Given the description of an element on the screen output the (x, y) to click on. 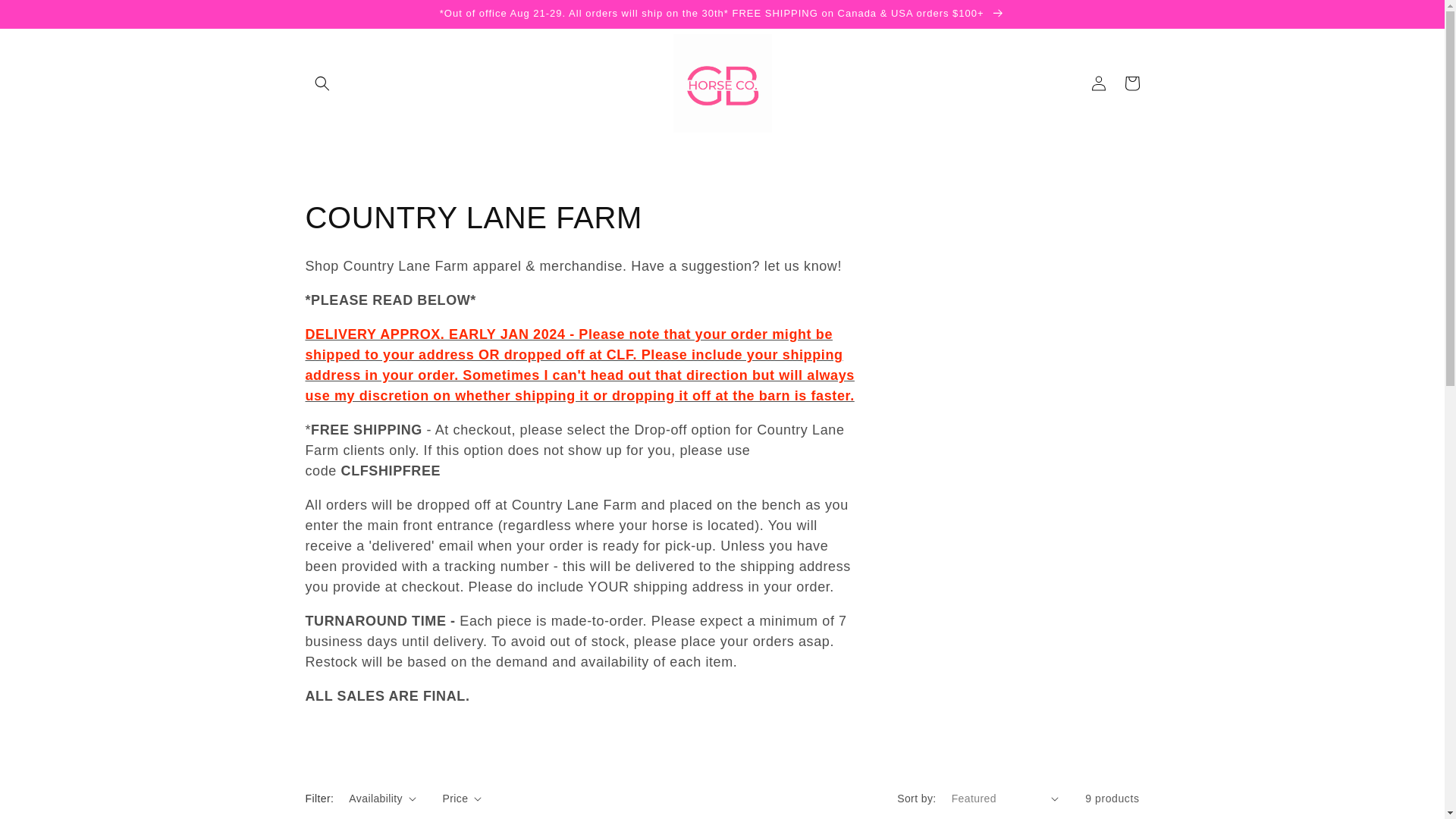
Cart (1131, 82)
Skip to content (45, 16)
Log in (1098, 82)
